Given the description of an element on the screen output the (x, y) to click on. 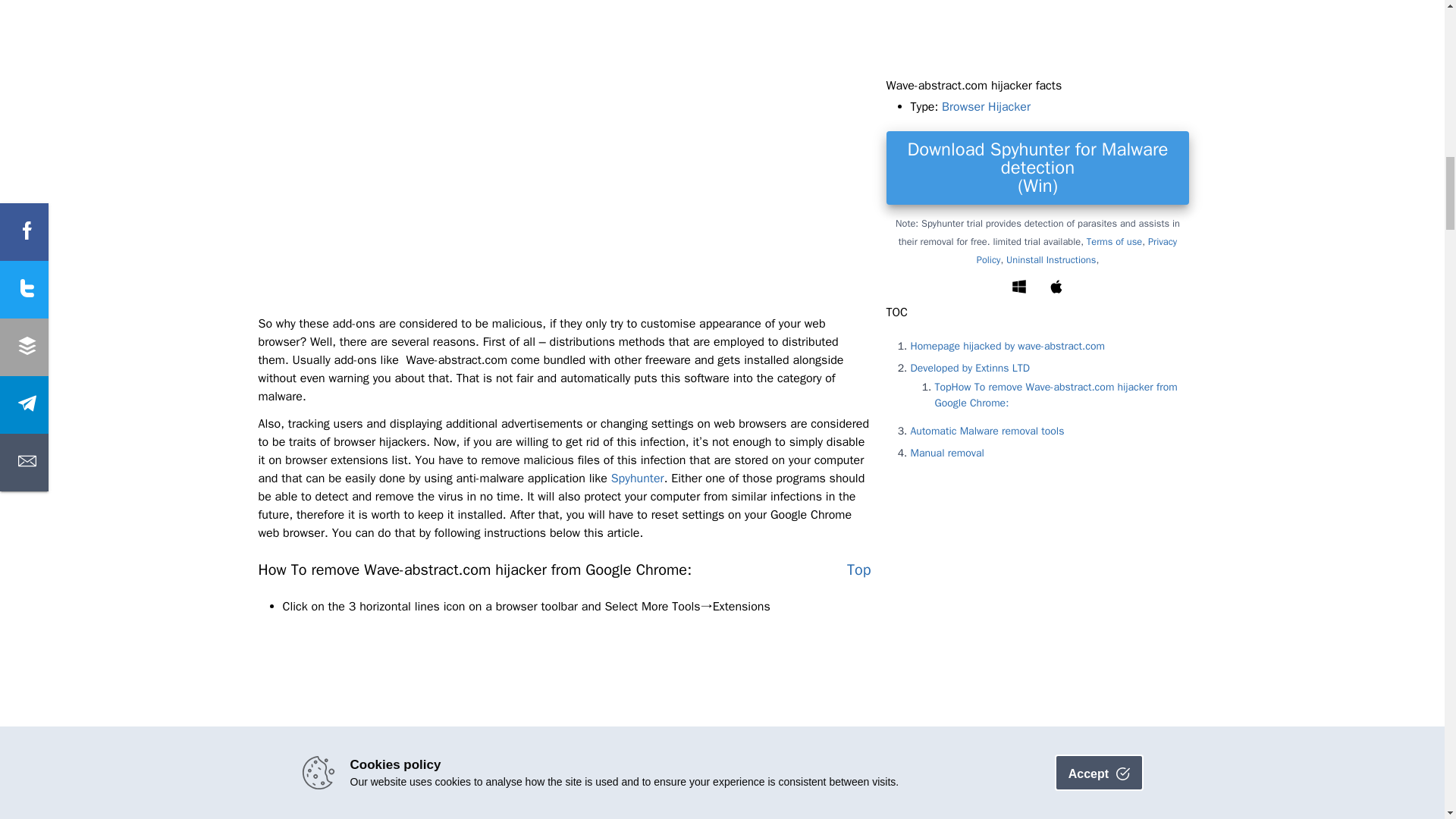
Spyhunter (637, 478)
Top (858, 569)
